Given the description of an element on the screen output the (x, y) to click on. 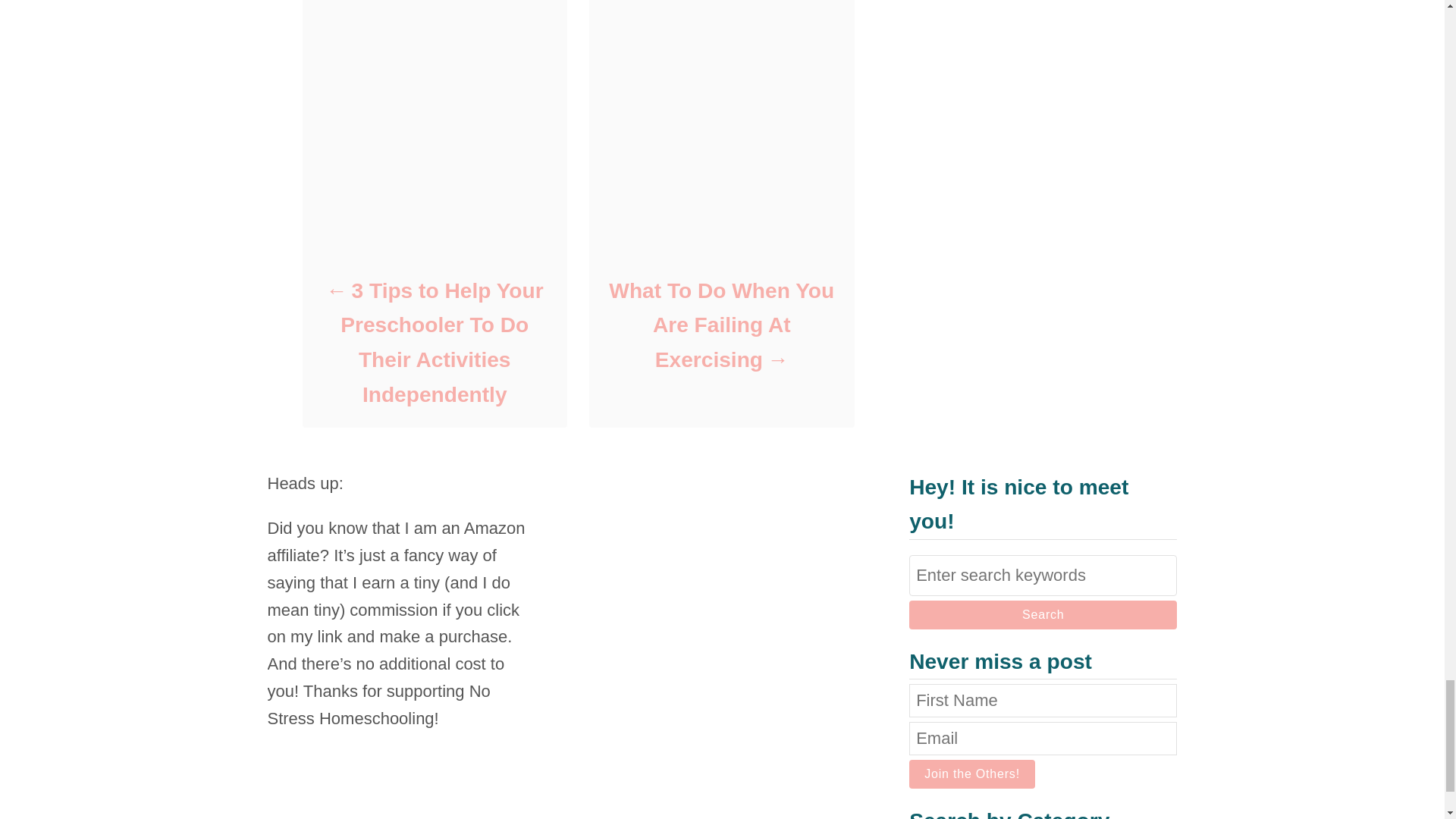
Join the Others! (971, 774)
Search (1042, 614)
Search for: (1042, 575)
Search (1042, 614)
